Given the description of an element on the screen output the (x, y) to click on. 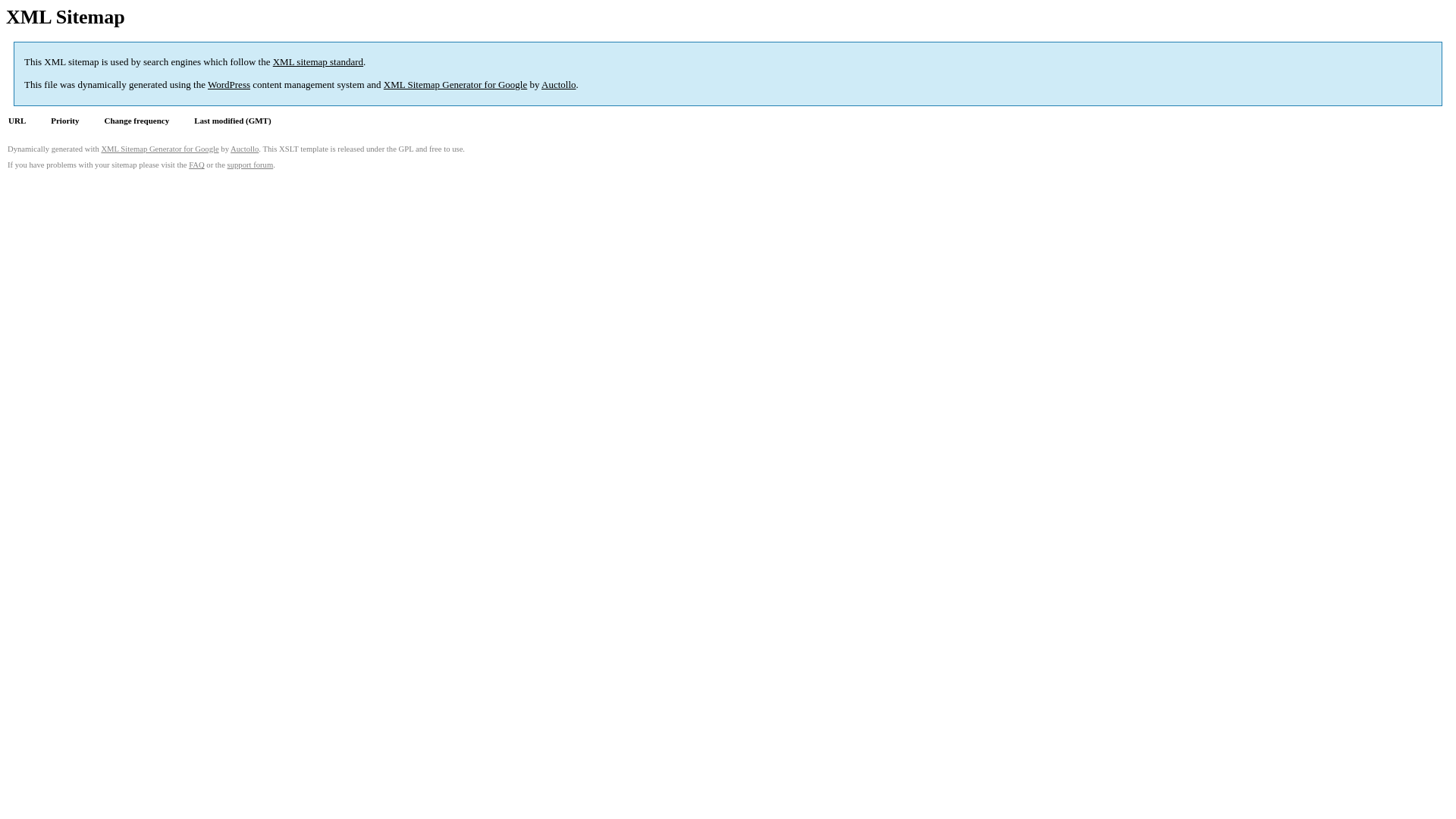
XML Sitemap Generator for Google Element type: text (159, 148)
XML Sitemap Generator for Google Element type: text (455, 84)
Auctollo Element type: text (558, 84)
support forum Element type: text (250, 164)
XML sitemap standard Element type: text (318, 61)
WordPress Element type: text (228, 84)
FAQ Element type: text (196, 164)
Auctollo Element type: text (244, 148)
